Given the description of an element on the screen output the (x, y) to click on. 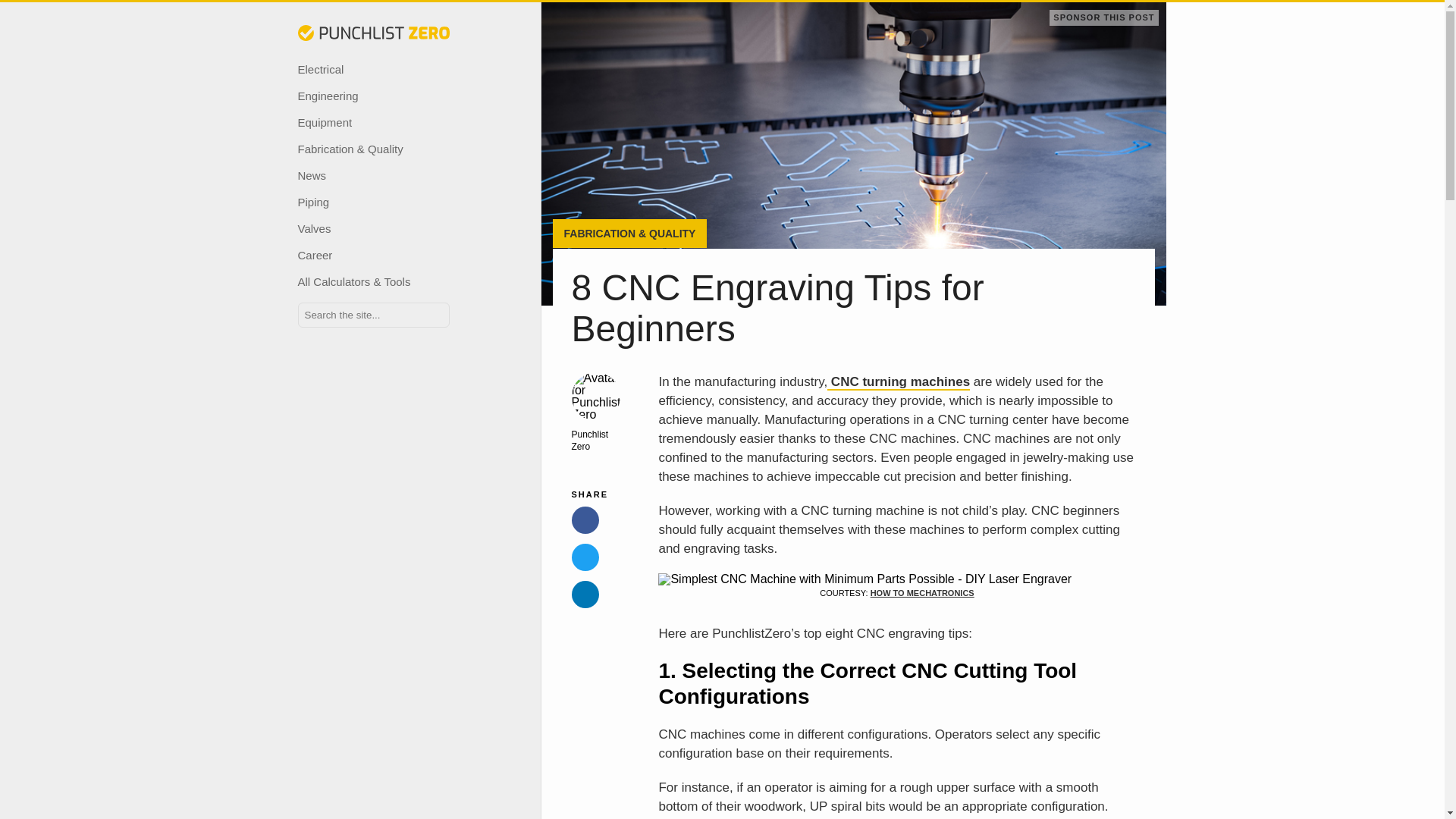
HOW TO MECHATRONICS (922, 592)
Valves (380, 228)
CNC turning machines (898, 382)
Career (380, 254)
Piping (380, 202)
Engineering (380, 95)
Piping (380, 202)
Punchlist Zero - Engineering Calculators, Tools, Courses (372, 32)
SPONSOR THIS POST (1103, 17)
Career (380, 254)
Equipment (380, 121)
Valves (380, 228)
News (380, 175)
Electrical (380, 69)
Electrical (380, 69)
